Given the description of an element on the screen output the (x, y) to click on. 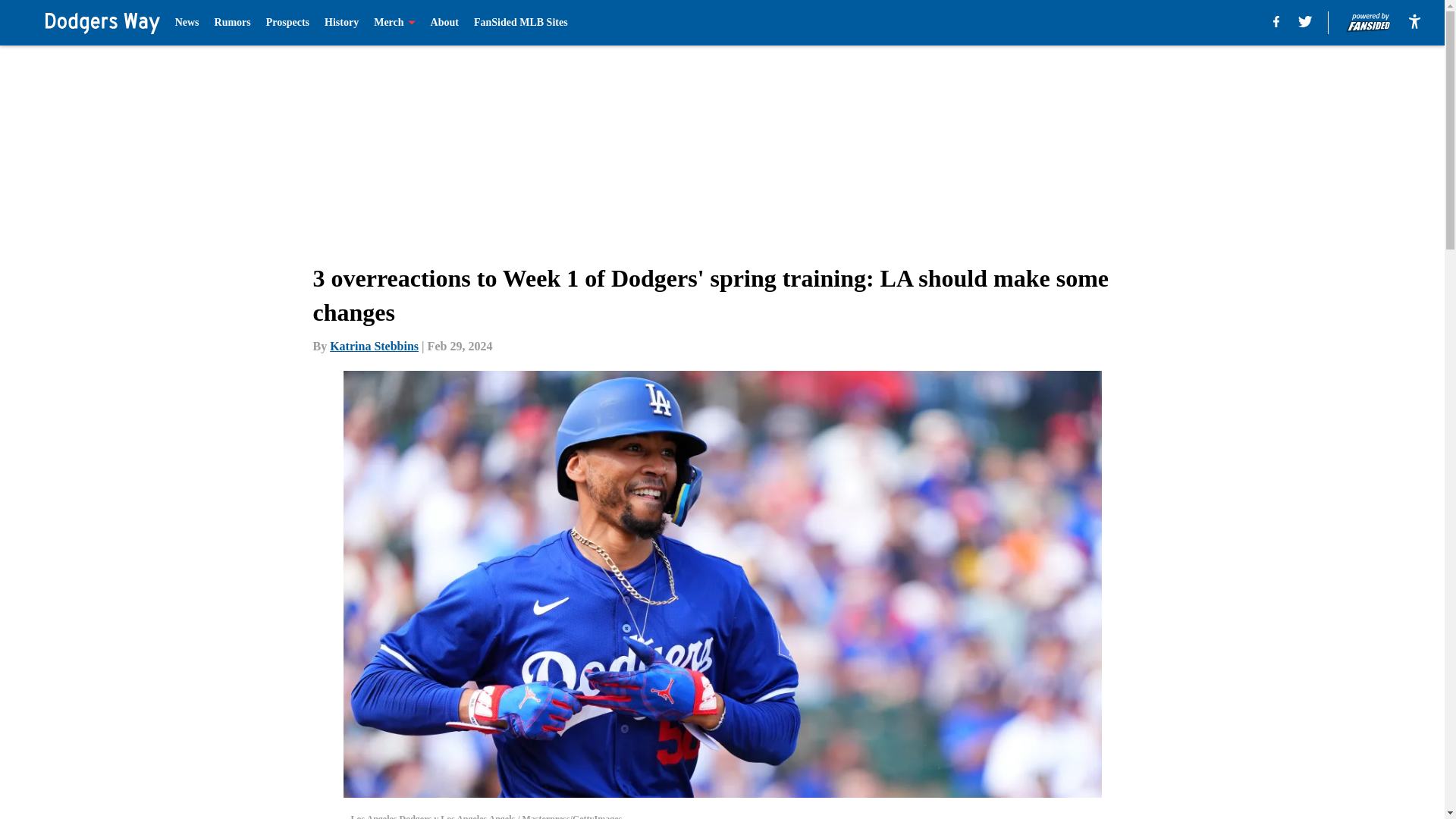
News (186, 22)
Rumors (232, 22)
History (341, 22)
Prospects (287, 22)
About (444, 22)
Katrina Stebbins (374, 345)
FanSided MLB Sites (520, 22)
